Given the description of an element on the screen output the (x, y) to click on. 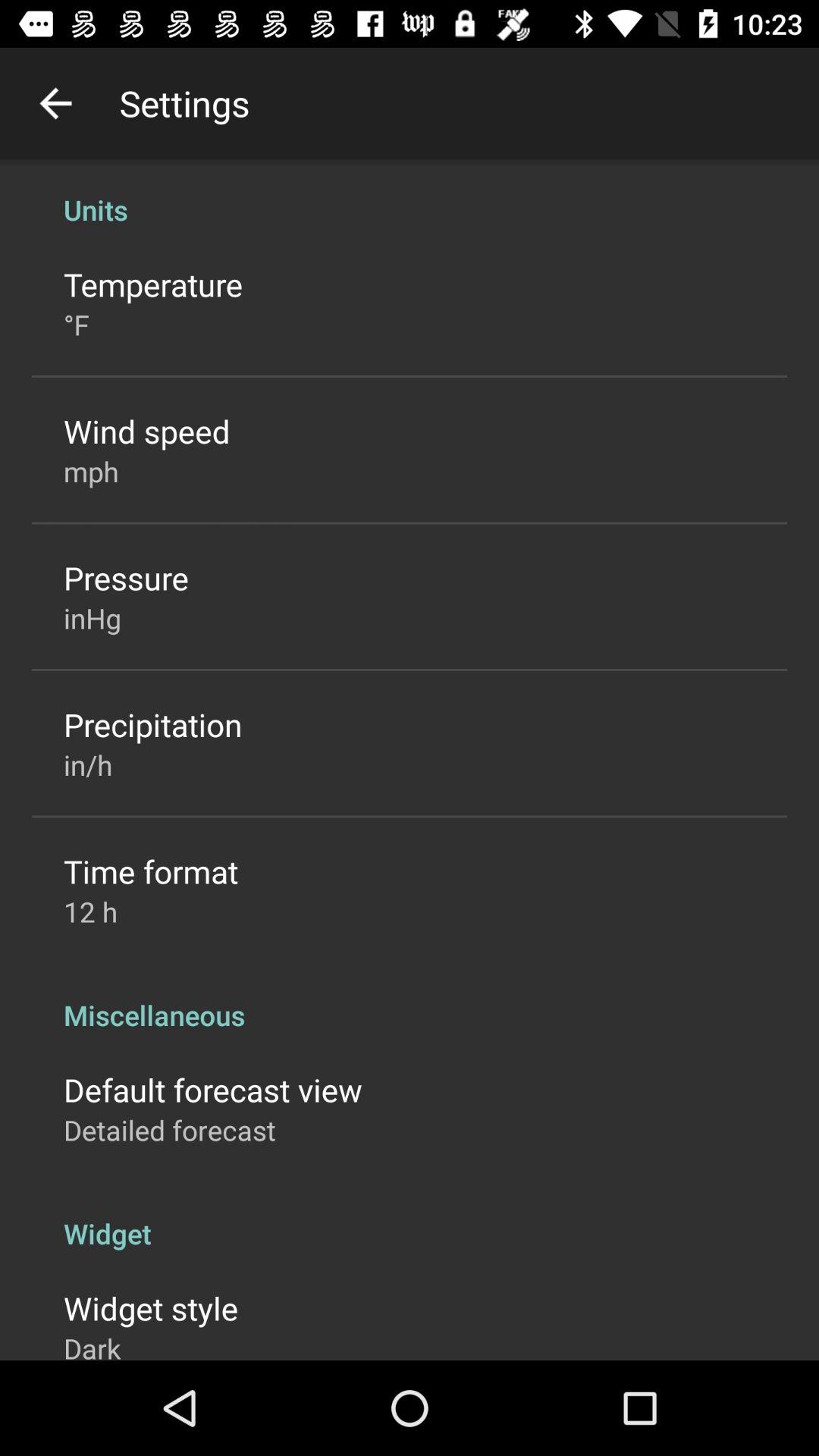
turn on item below pressure item (92, 618)
